Given the description of an element on the screen output the (x, y) to click on. 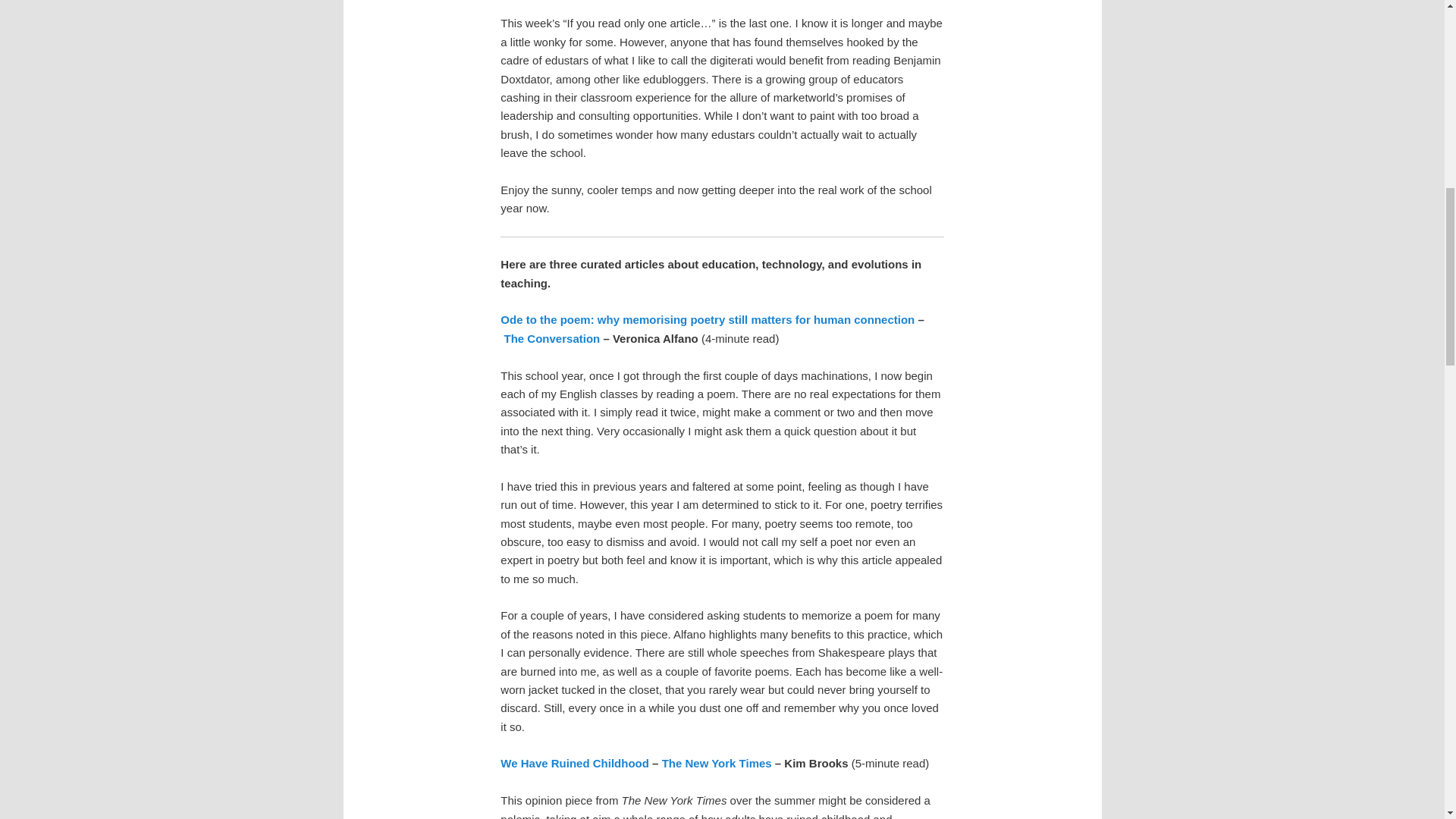
The Conversation (551, 338)
We Have Ruined Childhood (574, 762)
The New York Times (716, 762)
